Given the description of an element on the screen output the (x, y) to click on. 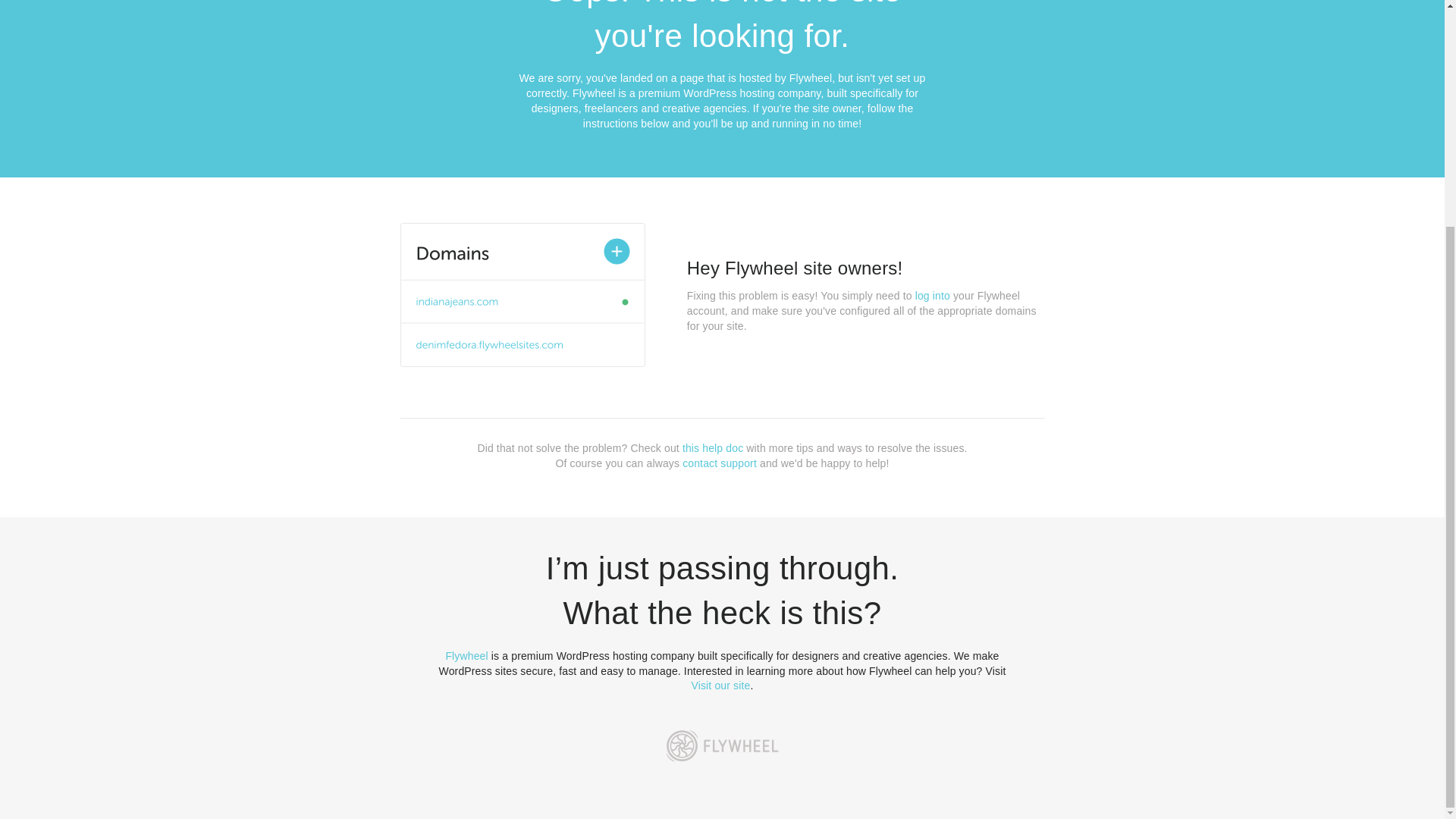
Visit our site (721, 685)
this help doc (712, 448)
contact support (719, 463)
Flywheel (466, 655)
log into (932, 295)
